Given the description of an element on the screen output the (x, y) to click on. 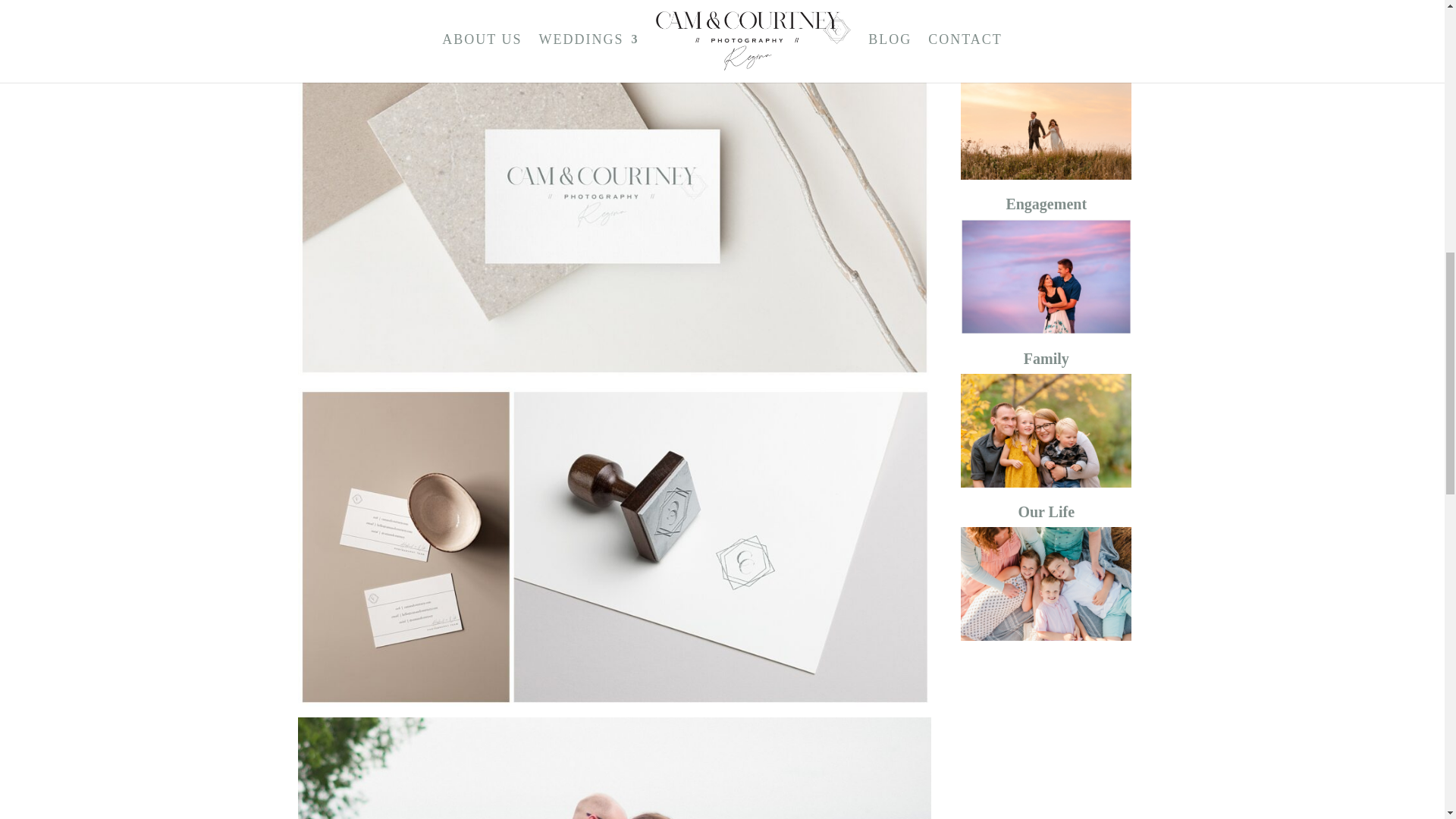
Engagement (1046, 203)
Family (1045, 358)
Wedding (1045, 43)
